Given the description of an element on the screen output the (x, y) to click on. 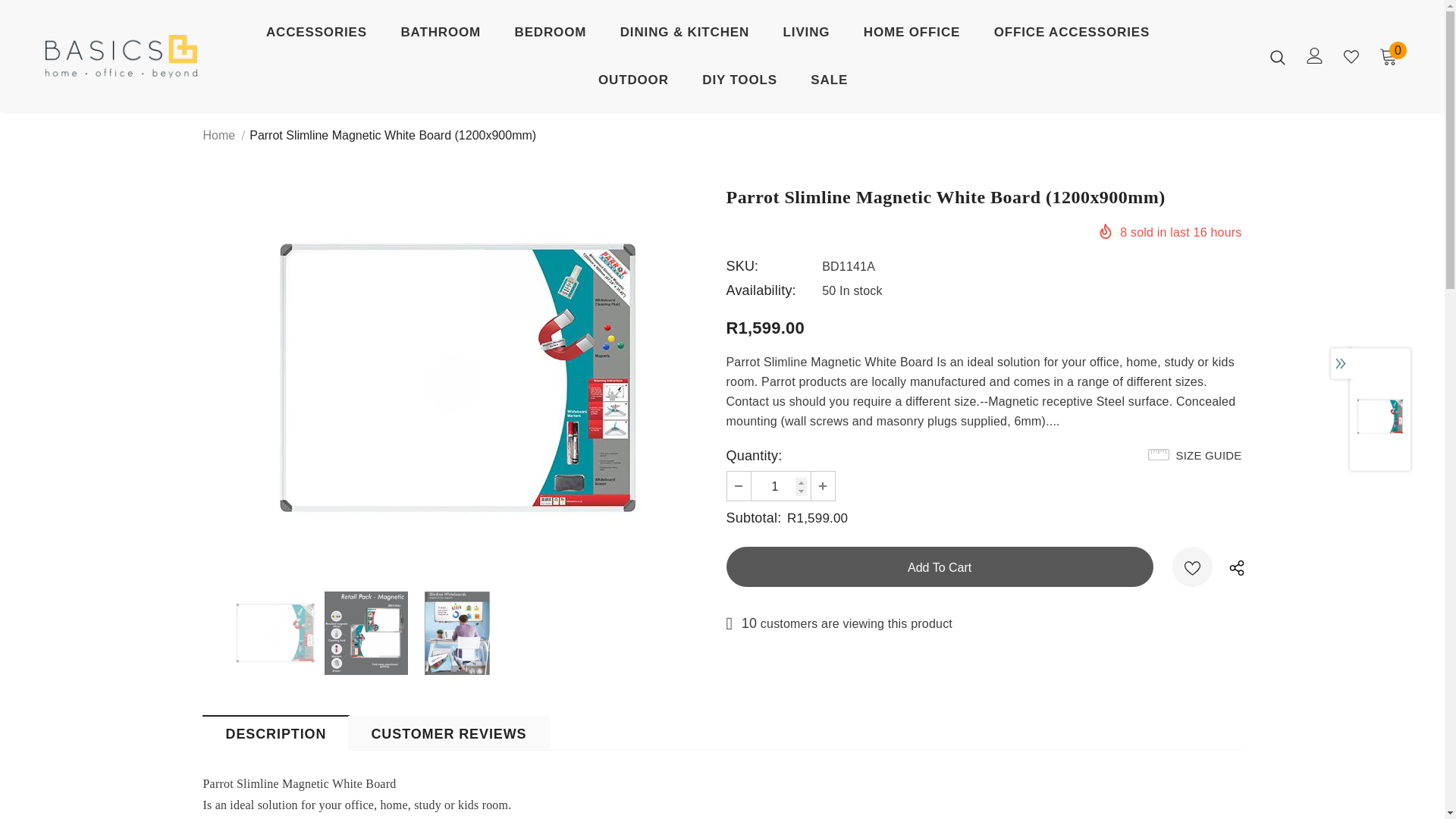
1 (780, 485)
DIY TOOLS (739, 83)
LIVING (806, 35)
Logo (121, 56)
OFFICE ACCESSORIES (1072, 35)
ACCESSORIES (316, 35)
BATHROOM (440, 35)
Home (219, 135)
Add to cart (939, 567)
HOME OFFICE (911, 35)
